Given the description of an element on the screen output the (x, y) to click on. 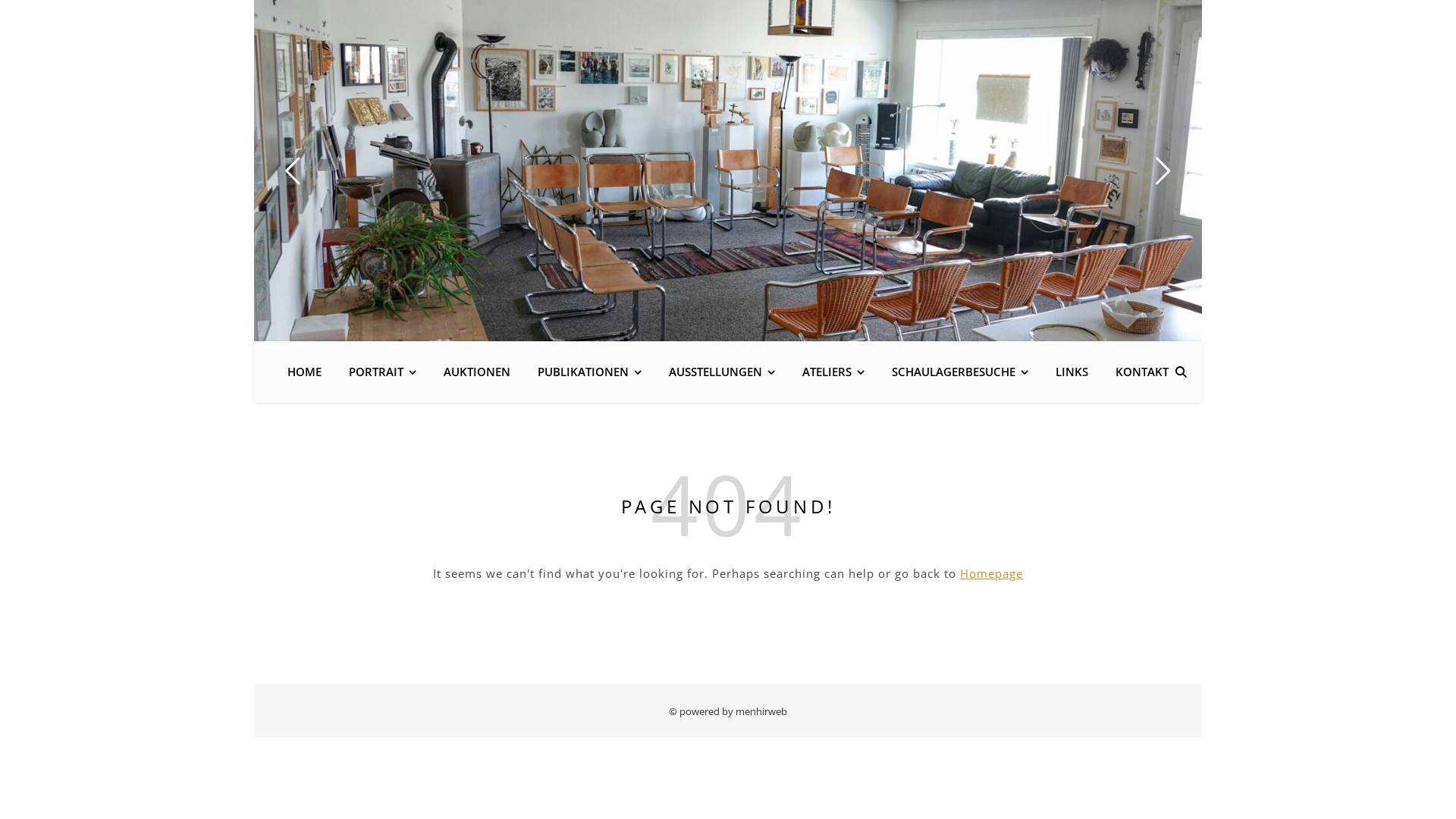
LINKS Element type: text (1071, 371)
HOME Element type: text (310, 371)
ATELIERS Element type: text (833, 371)
AUSSTELLUNGEN Element type: text (721, 371)
PORTRAIT Element type: text (382, 371)
AUKTIONEN Element type: text (476, 371)
SCHAULAGERBESUCHE Element type: text (959, 371)
Homepage Element type: text (991, 572)
KONTAKT Element type: text (1135, 371)
PUBLIKATIONEN Element type: text (589, 371)
